Given the description of an element on the screen output the (x, y) to click on. 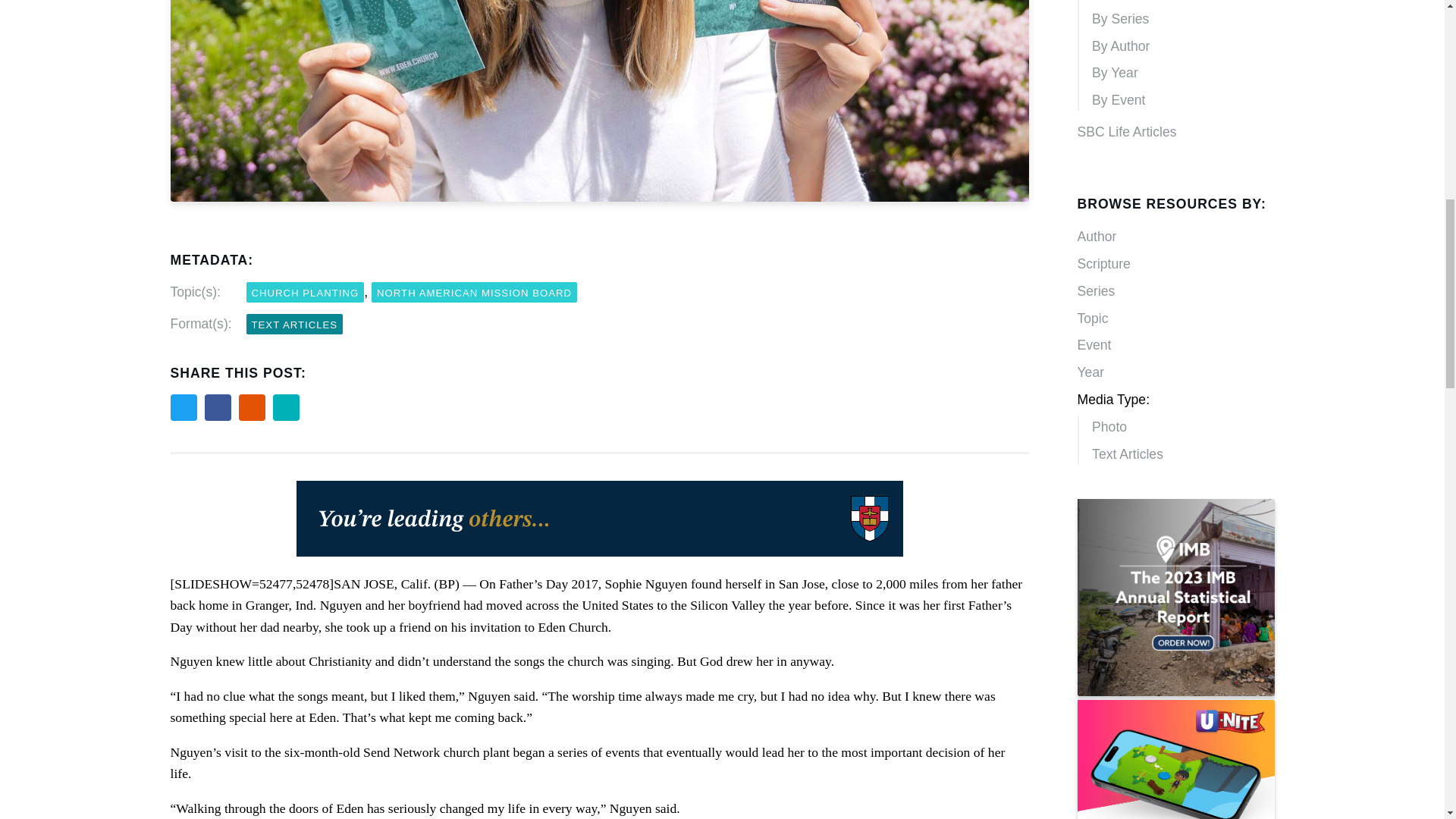
CHURCH PLANTING (305, 291)
TEXT ARTICLES (294, 323)
NORTH AMERICAN MISSION BOARD (473, 291)
